Given the description of an element on the screen output the (x, y) to click on. 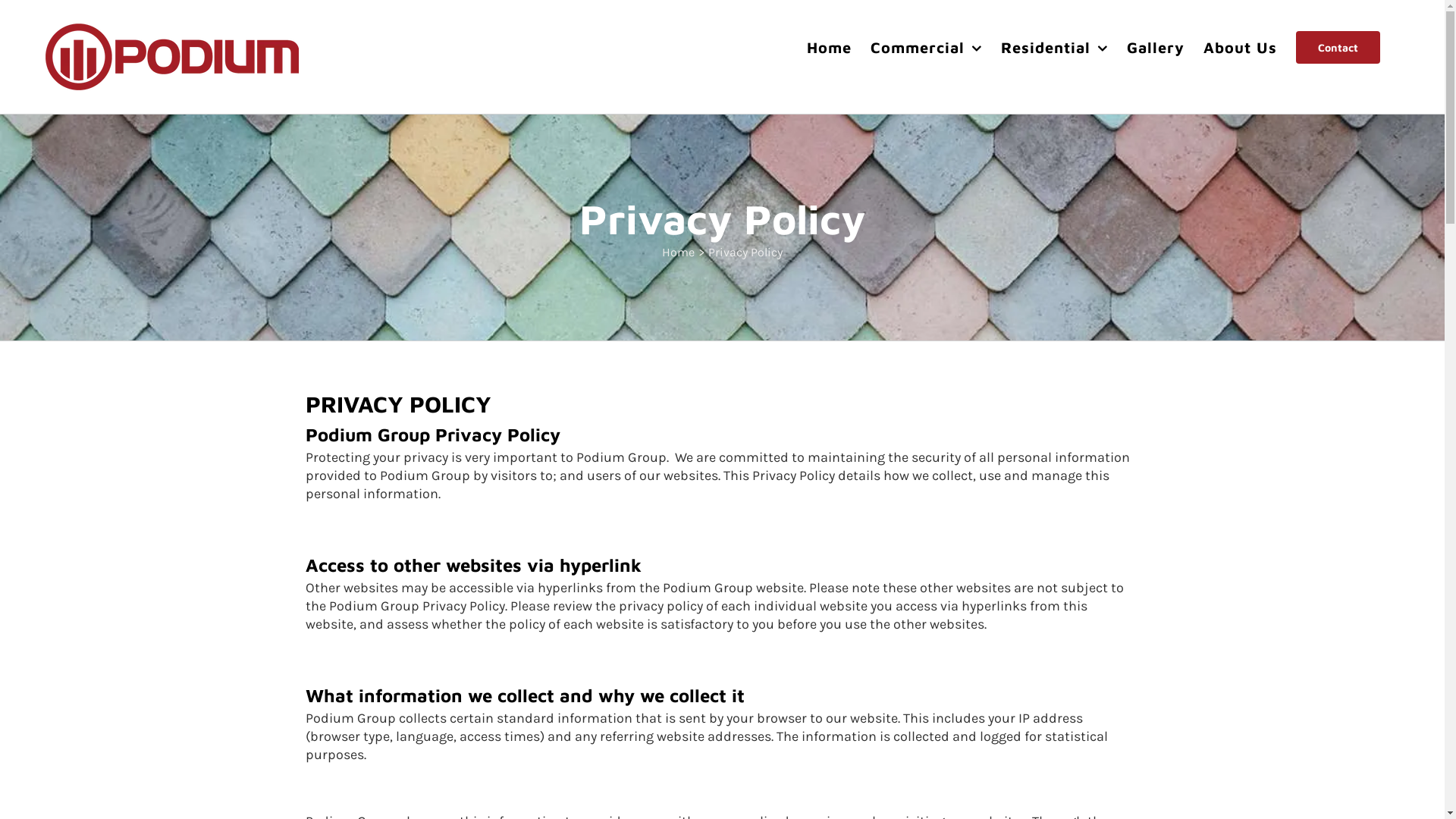
Commercial Element type: text (926, 47)
Contact Element type: text (1337, 47)
About Us Element type: text (1240, 47)
Home Element type: text (678, 251)
Residential Element type: text (1054, 47)
Home Element type: text (828, 47)
Gallery Element type: text (1155, 47)
